Given the description of an element on the screen output the (x, y) to click on. 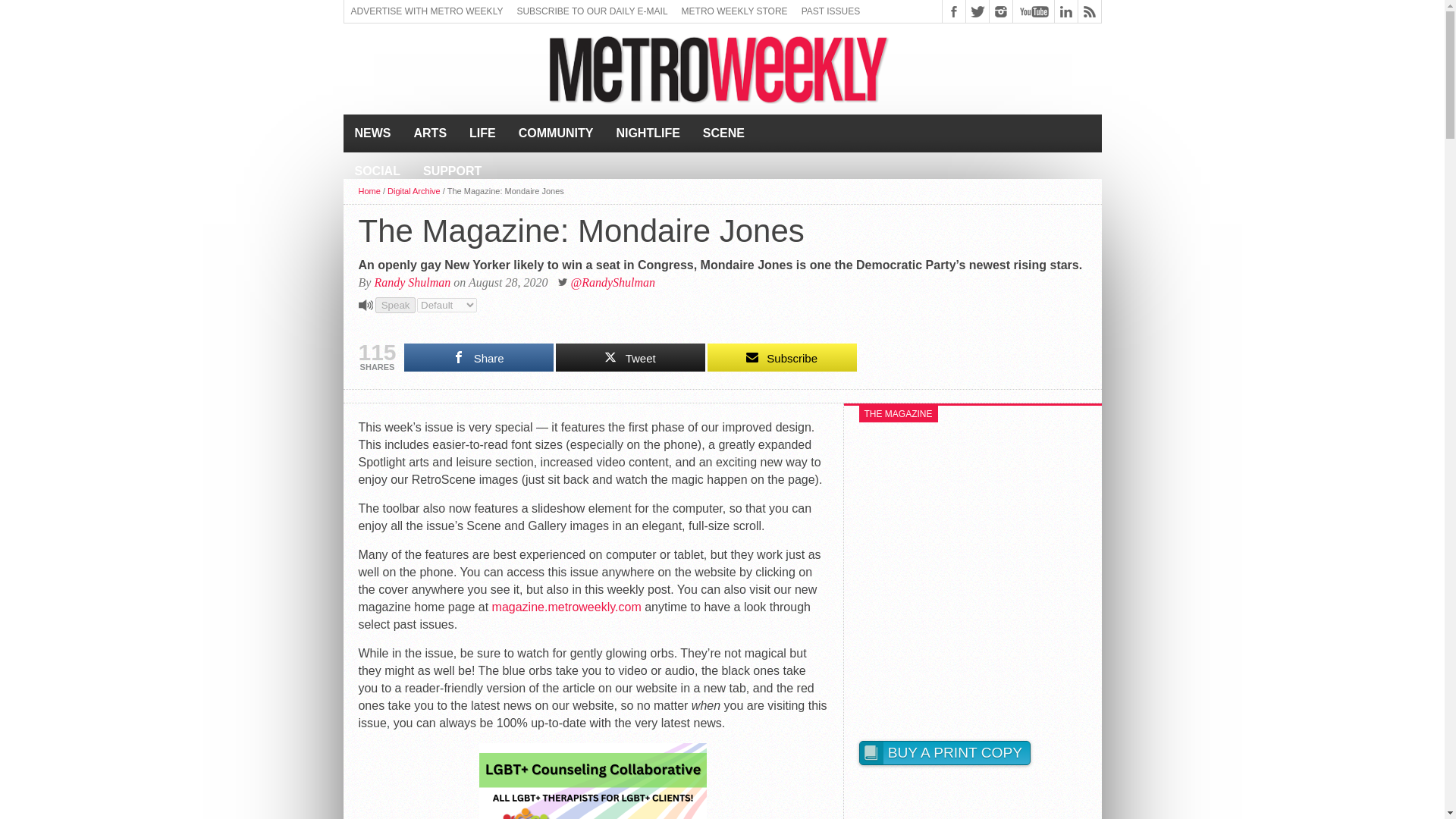
ADVERTISE WITH METRO WEEKLY (427, 11)
Peecho Simple Print Button (944, 753)
3rd party ad content (425, 69)
Metro Weekly Store (734, 11)
Speak (395, 304)
Posts by Randy Shulman (411, 282)
3rd party ad content (1006, 69)
3rd party ad content (972, 809)
